Given the description of an element on the screen output the (x, y) to click on. 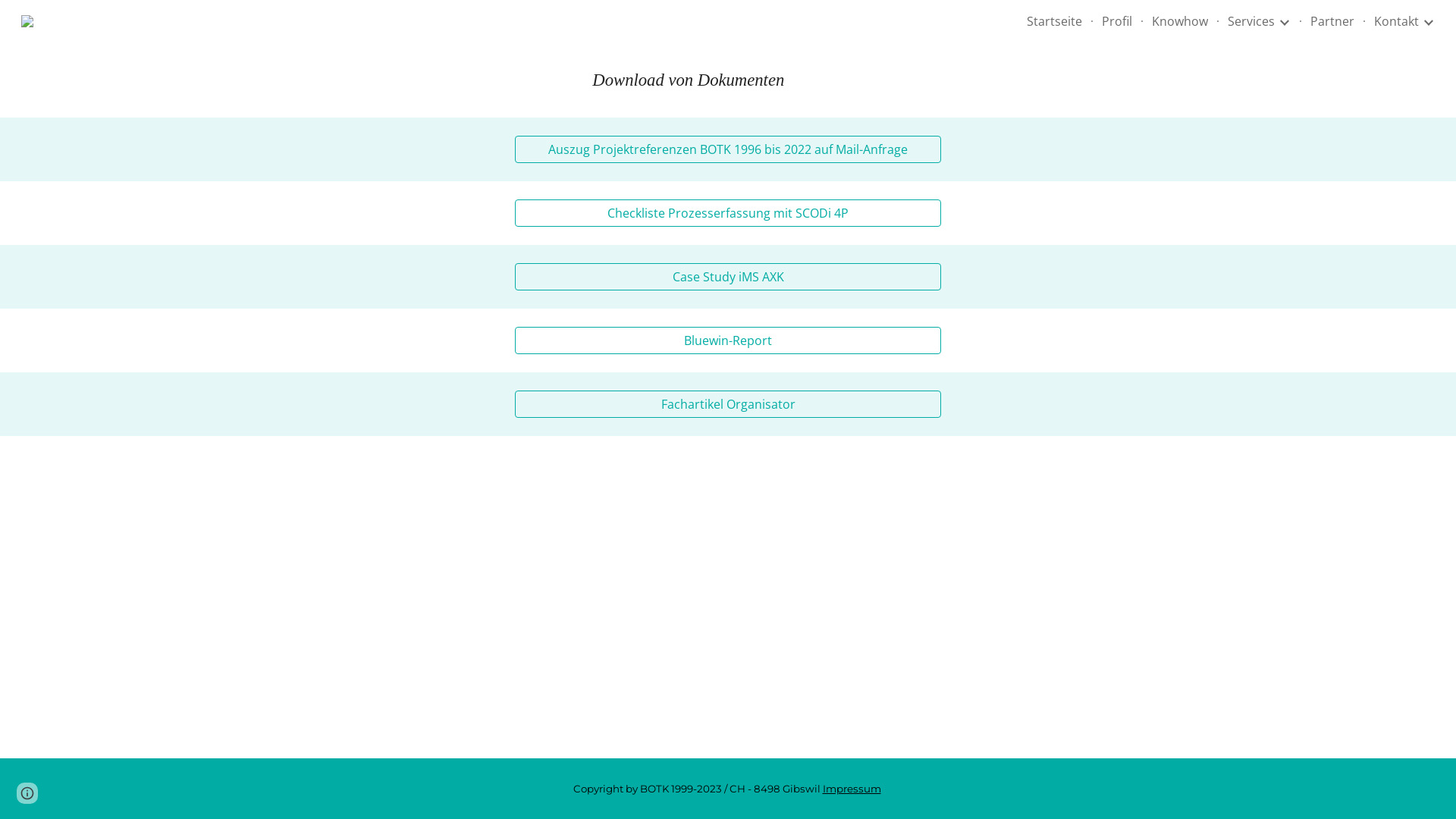
Expand/Collapse Element type: hover (1283, 20)
Auszug Projektreferenzen BOTK 1996 bis 2022 auf Mail-Anfrage Element type: text (727, 148)
Knowhow Element type: text (1179, 20)
Case Study iMS AXK Element type: text (727, 276)
Kontakt Element type: text (1396, 20)
Bluewin-Report Element type: text (727, 340)
Fachartikel Organisator Element type: text (727, 403)
Partner Element type: text (1332, 20)
Expand/Collapse Element type: hover (1427, 20)
Impressum Element type: text (851, 789)
Checkliste Prozesserfassung mit SCODi 4P Element type: text (727, 212)
Services Element type: text (1250, 20)
Startseite Element type: text (1054, 20)
Profil Element type: text (1116, 20)
